Given the description of an element on the screen output the (x, y) to click on. 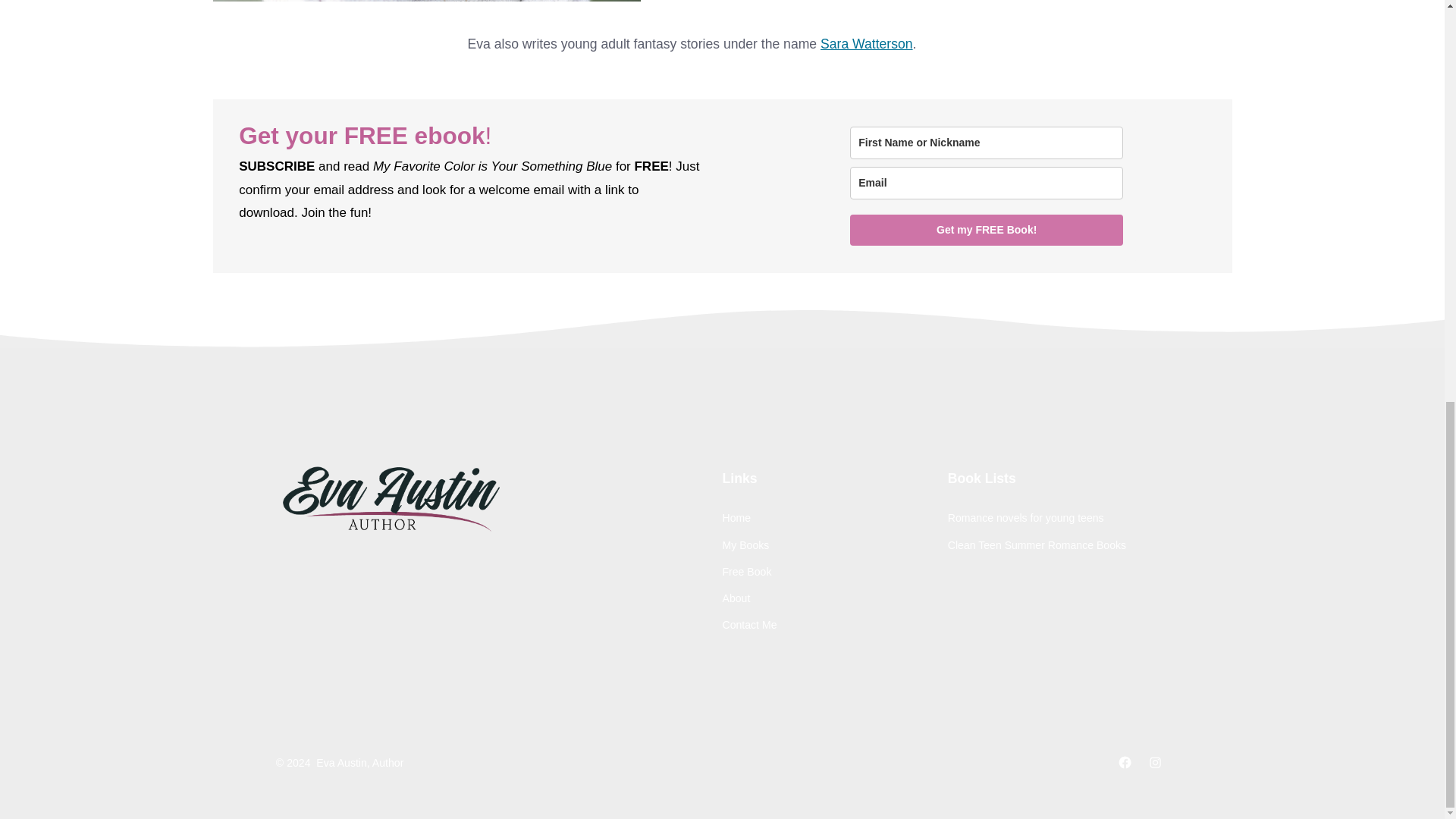
Clean Teen Summer Romance Books (1036, 544)
Sara Watterson (866, 43)
Contact Me (749, 624)
Free Book (746, 571)
Romance novels for young teens (1025, 517)
Open Instagram in a new tab (1155, 762)
Home (736, 517)
About (735, 598)
My Books (745, 544)
Get my FREE Book! (986, 229)
